Given the description of an element on the screen output the (x, y) to click on. 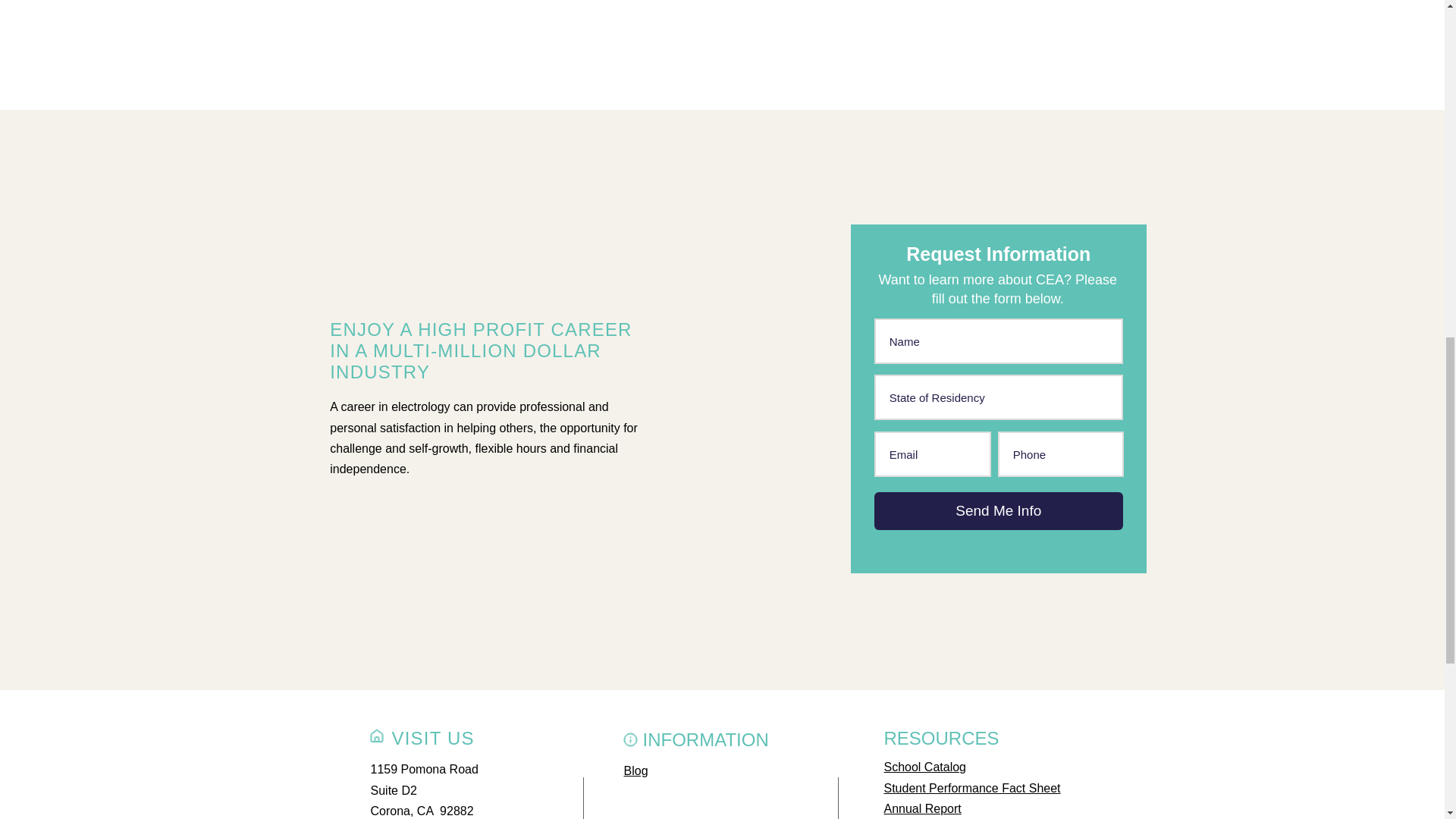
Annual Report (921, 808)
Blog (635, 770)
Student Performance Fact Sheet (972, 788)
Send Me Info (998, 510)
School Catalog (924, 766)
